Given the description of an element on the screen output the (x, y) to click on. 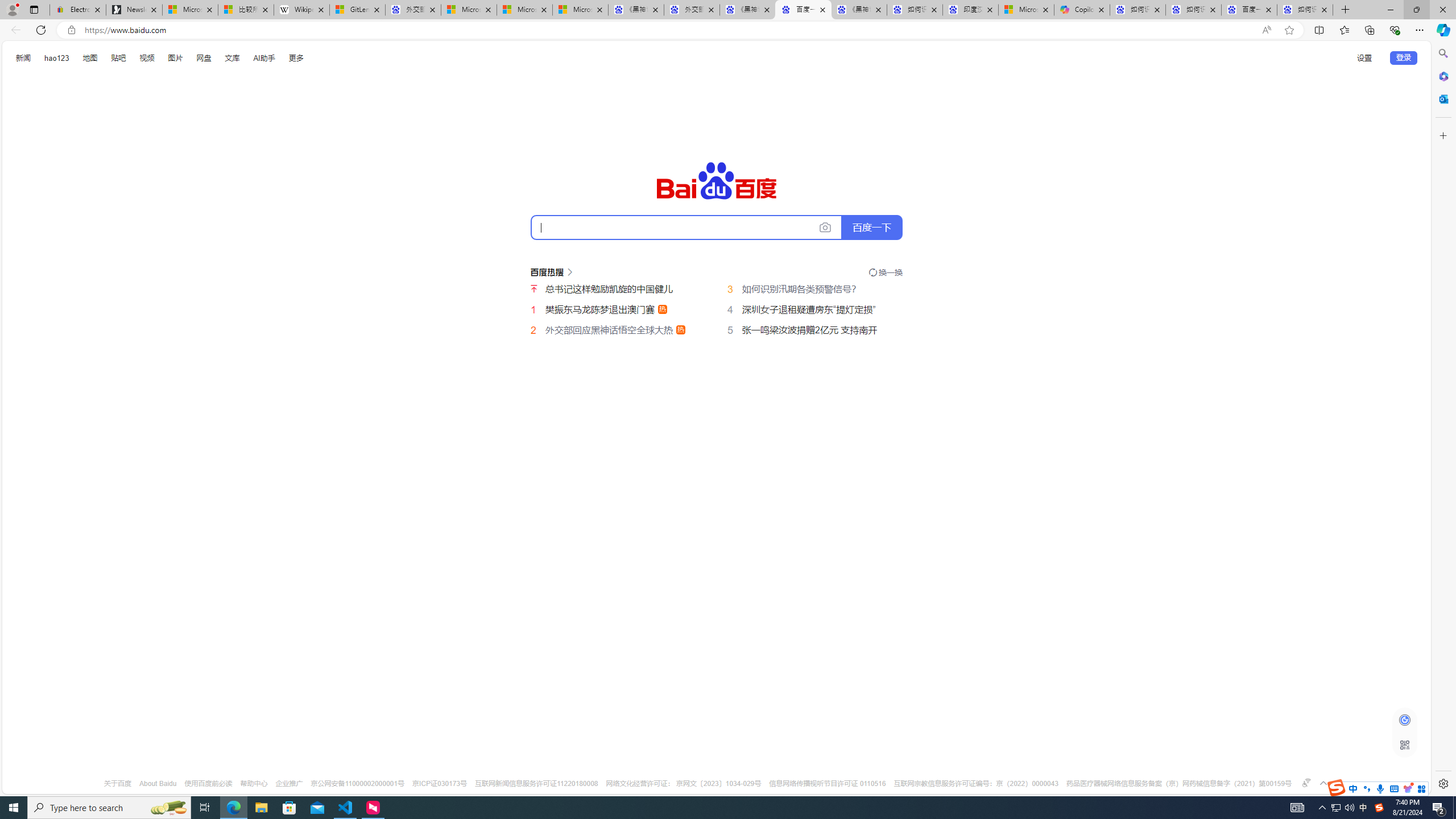
Class: icon (1404, 744)
